Given the description of an element on the screen output the (x, y) to click on. 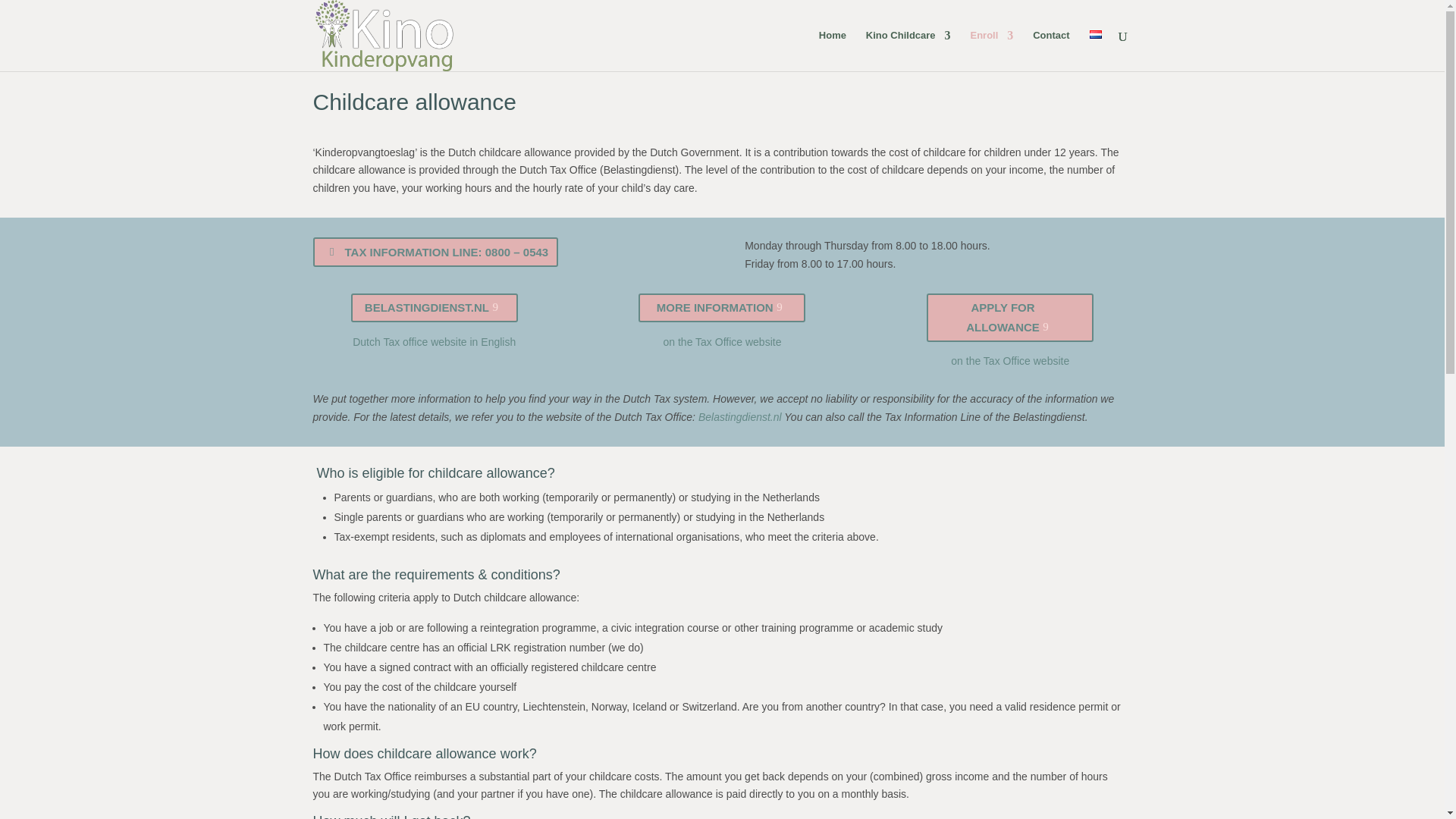
Belastingdienst.nl (739, 417)
BELASTINGDIENST.NL (434, 307)
APPLY FOR ALLOWANCE (1009, 317)
Kino Childcare (908, 50)
Enroll (991, 50)
MORE INFORMATION (722, 307)
Contact (1050, 50)
